Given the description of an element on the screen output the (x, y) to click on. 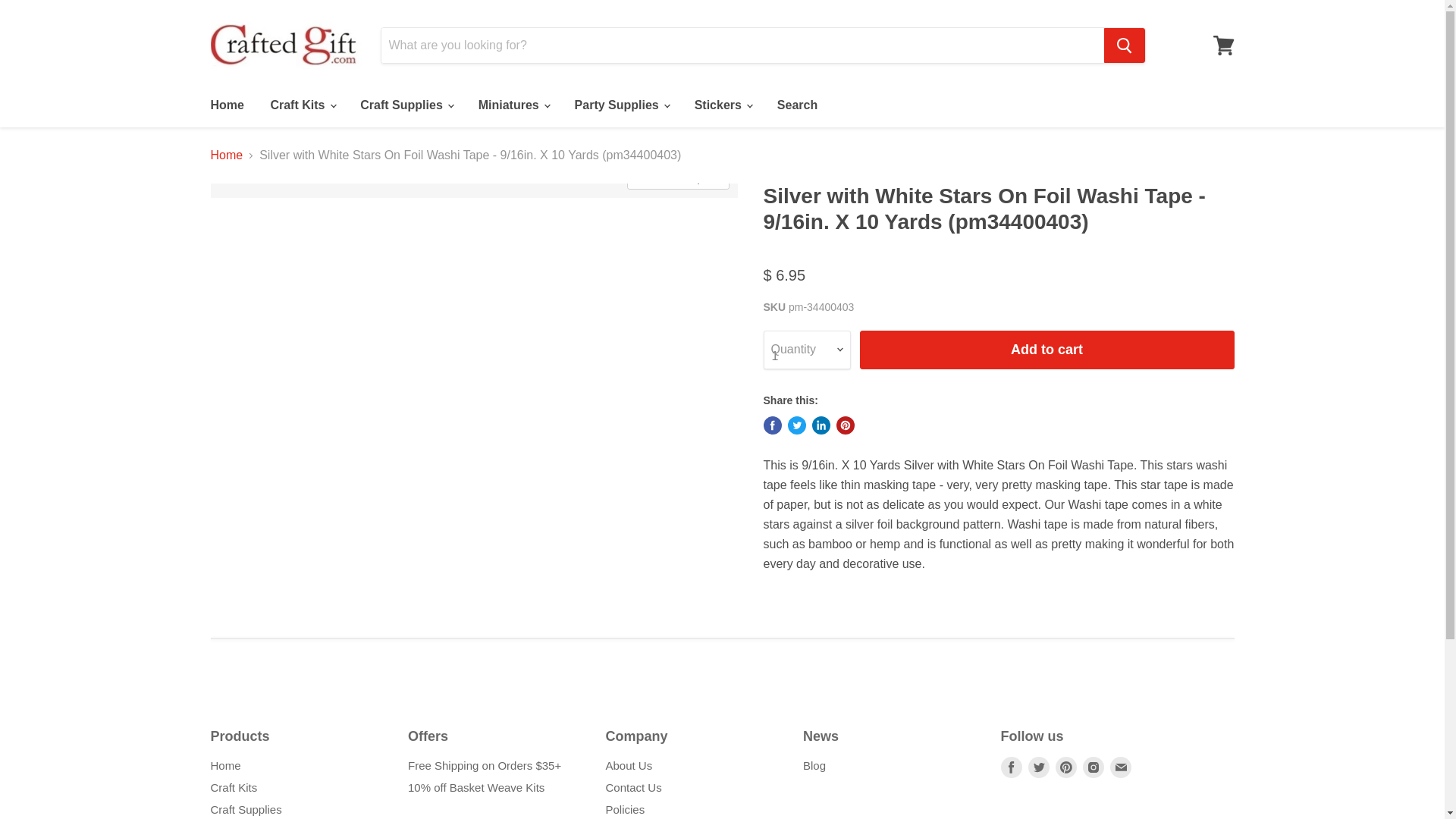
Pinterest (1066, 767)
Craft Supplies (406, 105)
Twitter (1038, 767)
E-mail (1120, 767)
Instagram (1093, 767)
Facebook (1011, 767)
Home (226, 105)
View cart (1223, 45)
Craft Kits (302, 105)
